Given the description of an element on the screen output the (x, y) to click on. 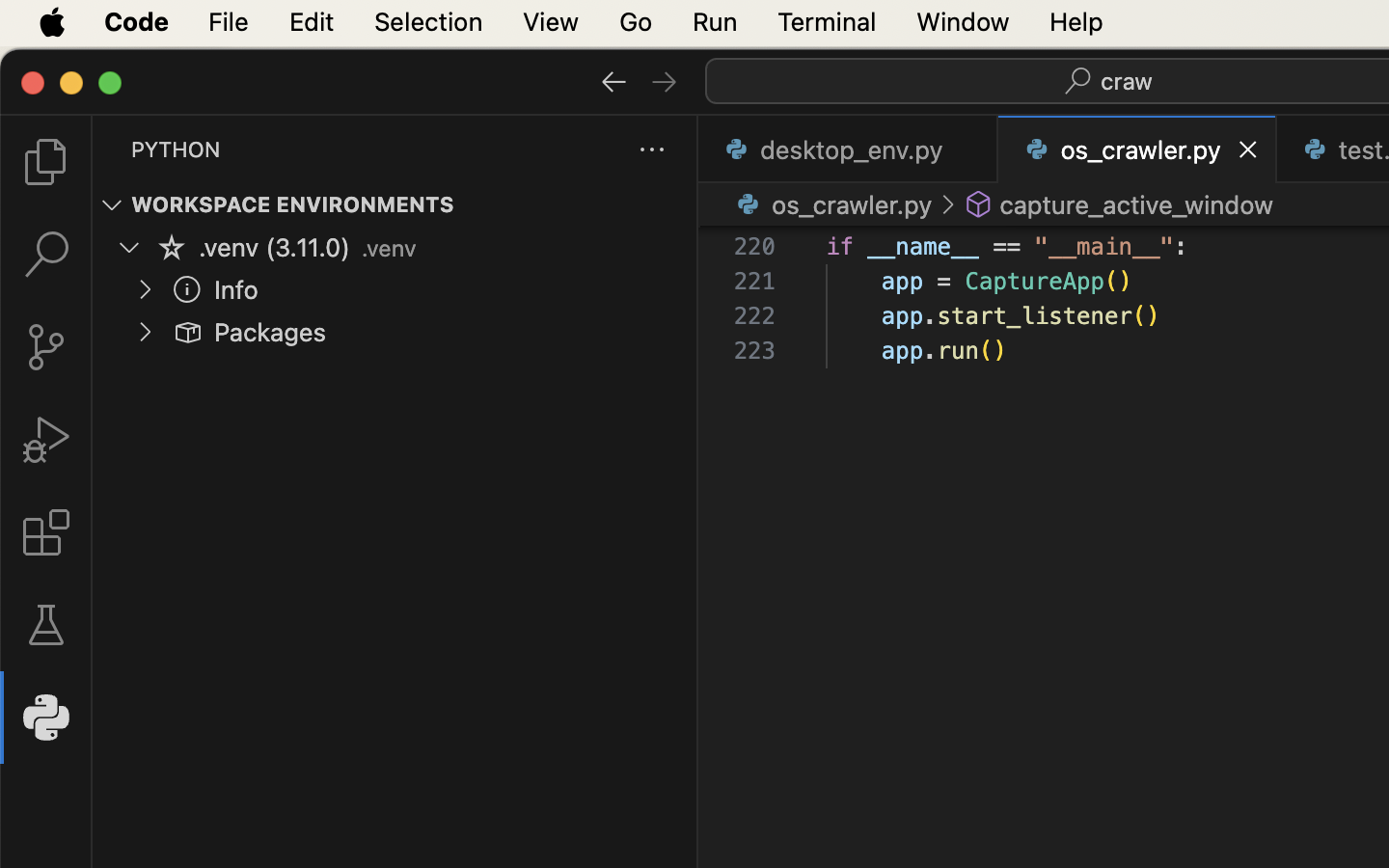
capture_active_window Element type: AXGroup (1136, 204)
Packages Element type: AXStaticText (270, 332)
0  Element type: AXRadioButton (46, 254)
1 Element type: AXRadioButton (46, 717)
.venv Element type: AXStaticText (388, 248)
